Given the description of an element on the screen output the (x, y) to click on. 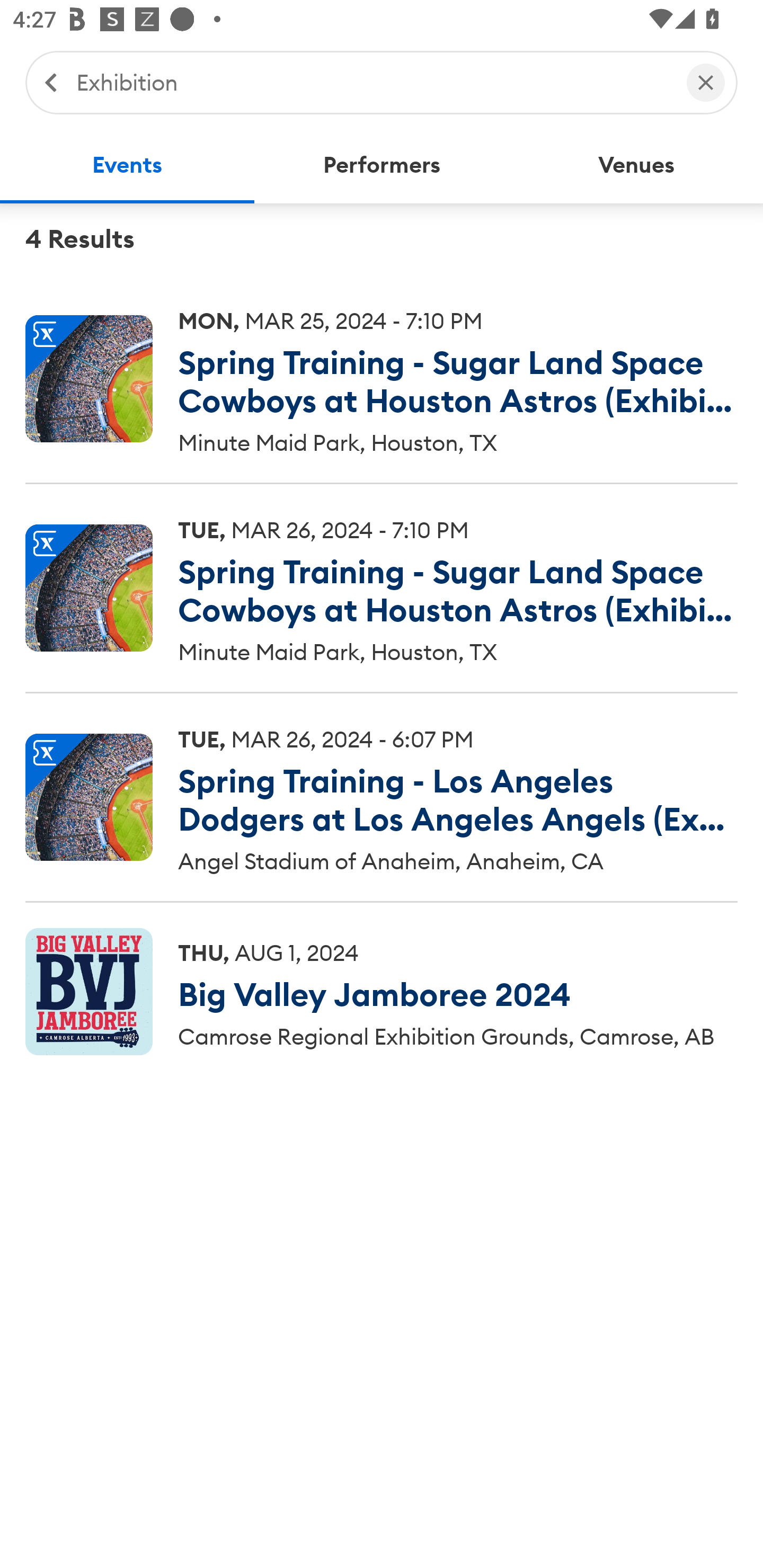
Exhibition (371, 81)
Clear Search (705, 81)
Performers (381, 165)
Venues (635, 165)
